Given the description of an element on the screen output the (x, y) to click on. 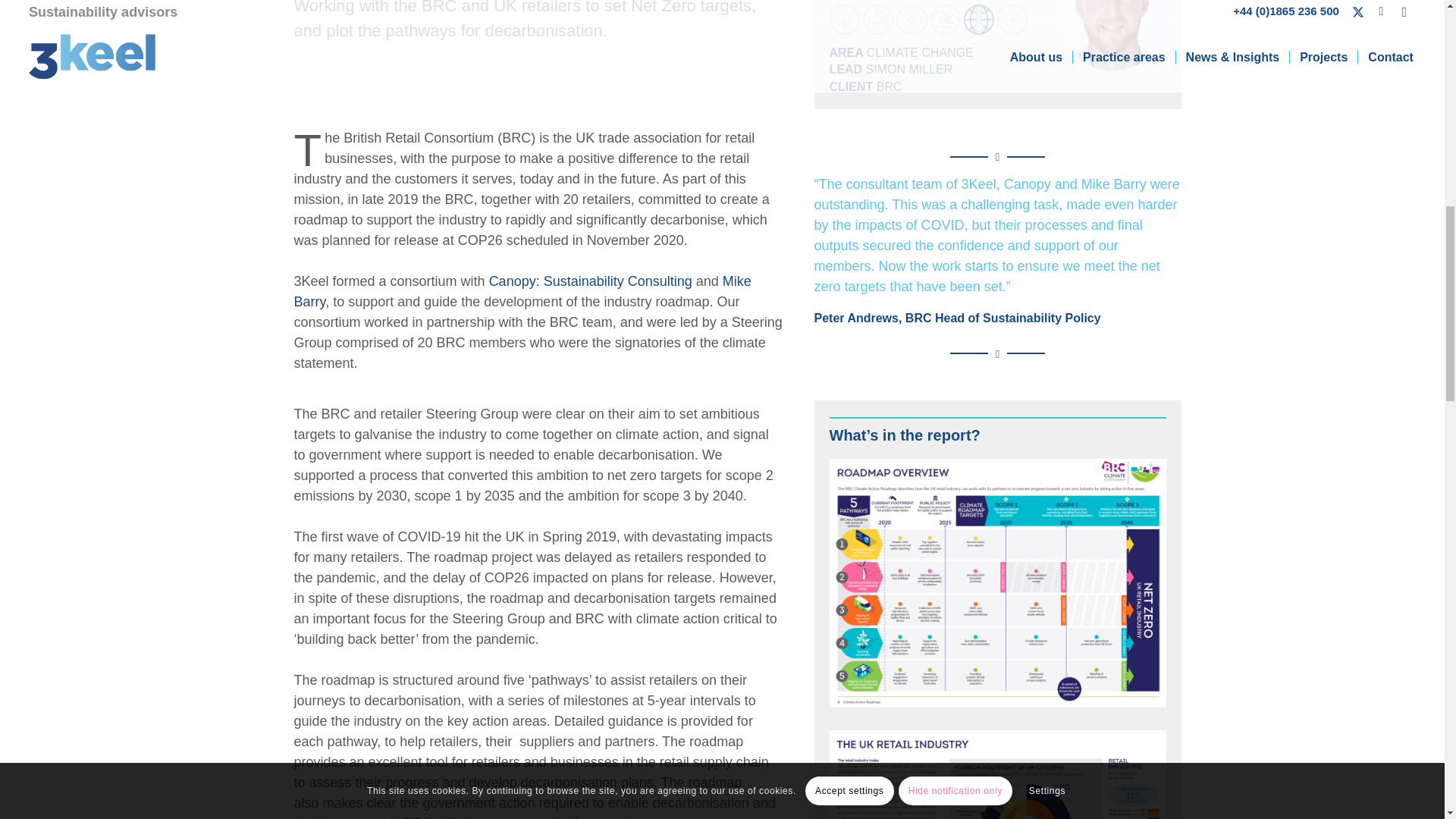
BRC (889, 86)
Canopy: Sustainability Consulting (591, 281)
SIMON MILLER (909, 69)
CLIMATE CHANGE (920, 51)
Mike Barry (522, 291)
roadmap (997, 582)
